Given the description of an element on the screen output the (x, y) to click on. 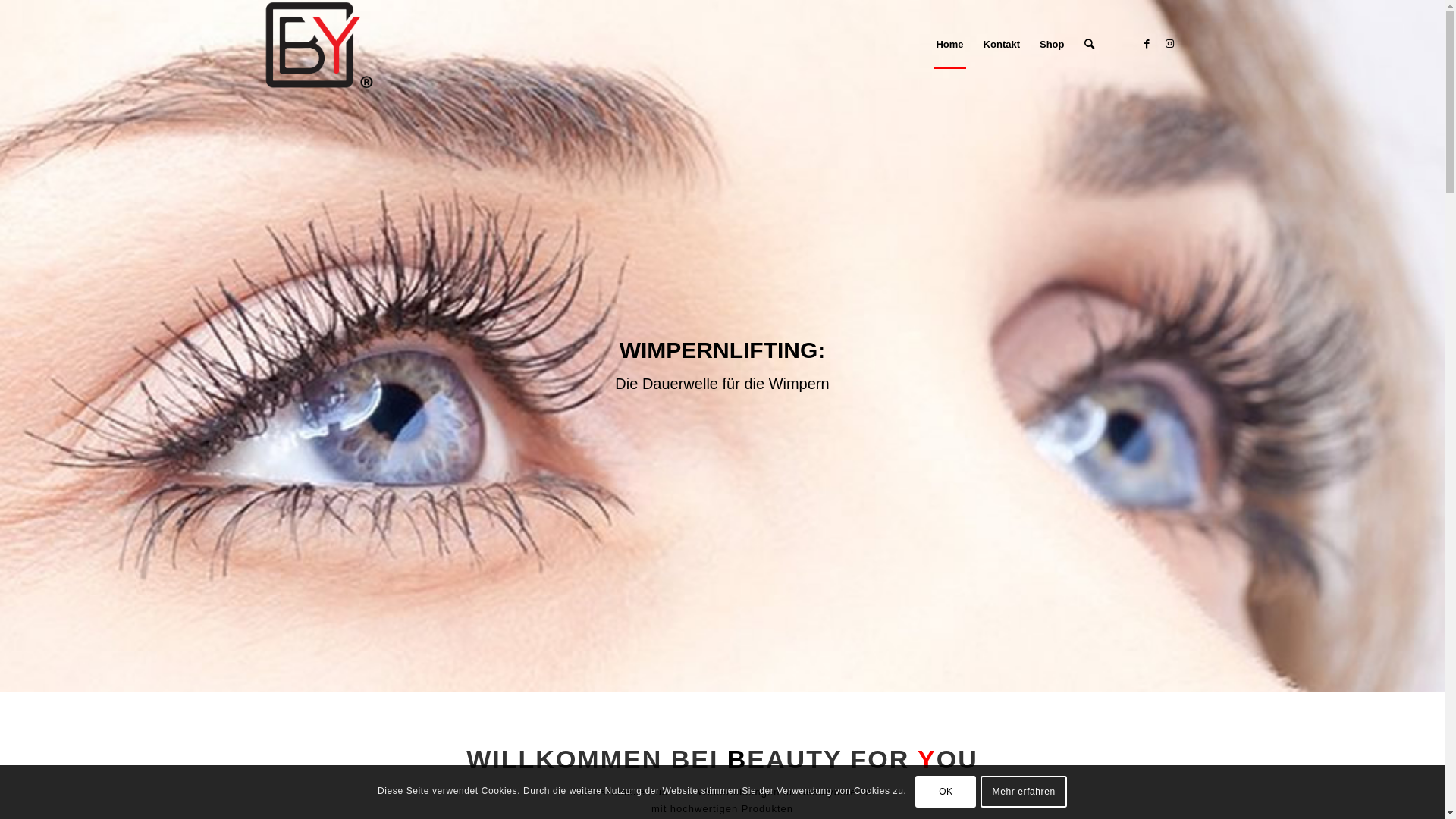
OK Element type: text (945, 791)
Home Element type: text (948, 44)
Beauty-for-YOU Element type: hover (318, 44)
Instagram Element type: hover (1169, 43)
Kontakt Element type: text (1001, 44)
Wimpernliftingkurs Element type: hover (722, 346)
Shop Element type: text (1051, 44)
Mehr erfahren Element type: text (1023, 791)
Facebook Element type: hover (1146, 43)
